Given the description of an element on the screen output the (x, y) to click on. 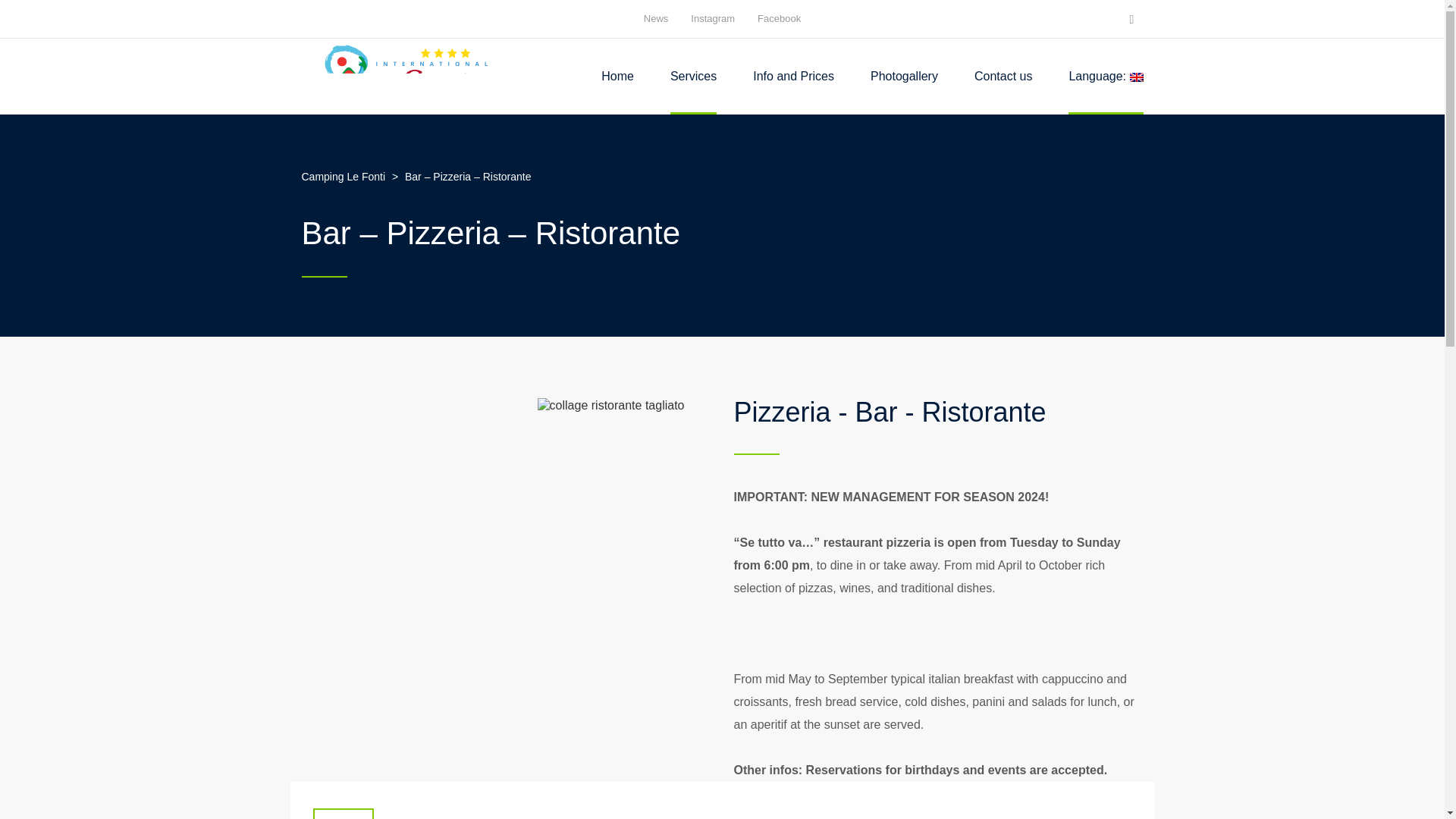
Instagram (712, 18)
English (1105, 76)
Camping Le Fonti (406, 76)
Facebook (778, 18)
Photogallery (903, 76)
Go to Camping Le Fonti. (345, 176)
News (655, 18)
collage ristorante tagliato (610, 405)
Language:  (1105, 76)
Info and Prices (793, 76)
